Given the description of an element on the screen output the (x, y) to click on. 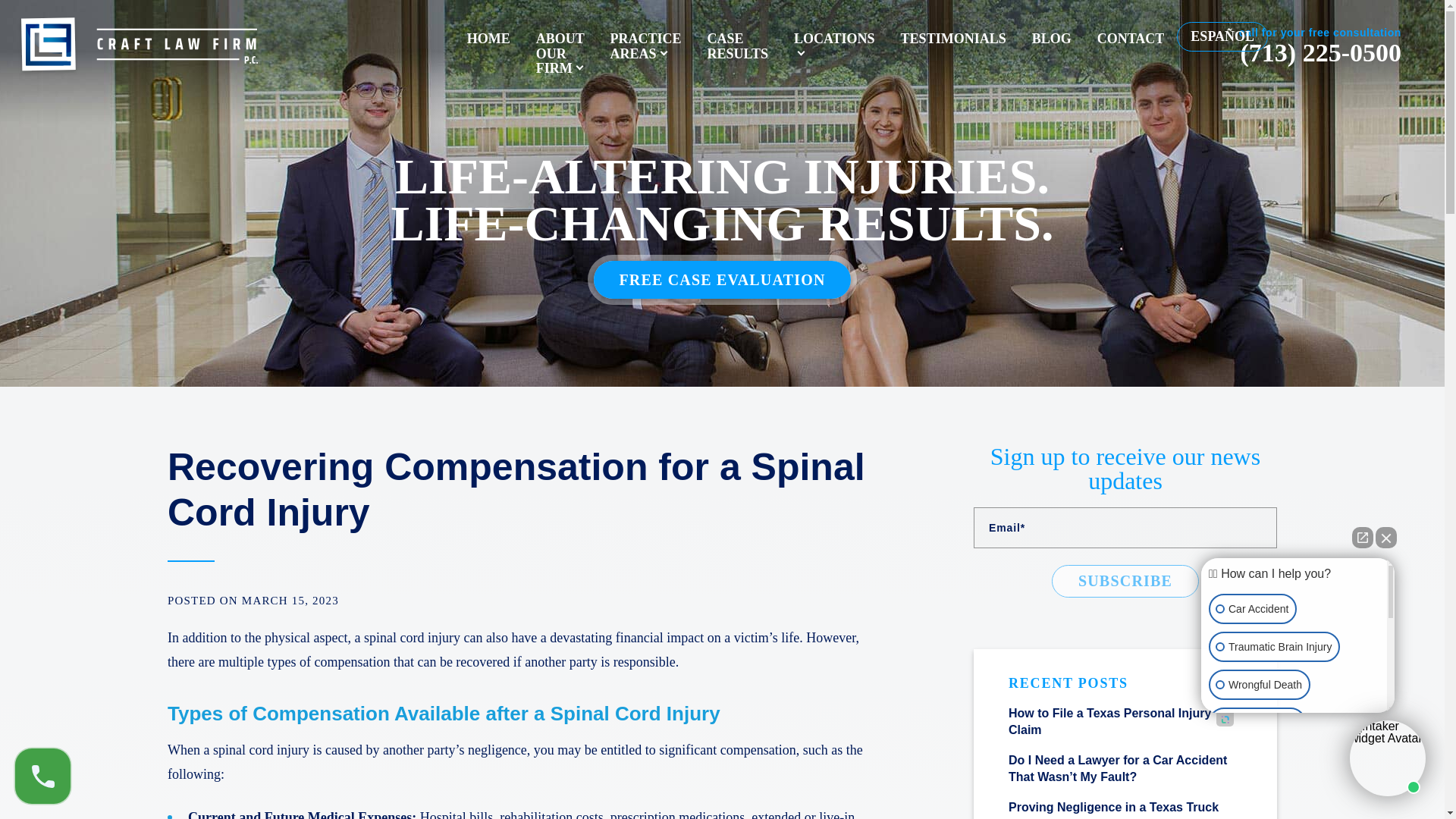
PRACTICE AREAS (645, 45)
TESTIMONIALS (953, 37)
BLOG (1051, 37)
ABOUT OUR FIRM (560, 52)
HOME (489, 37)
LOCATIONS (834, 45)
CONTACT (1130, 37)
CASE RESULTS (737, 45)
